Given the description of an element on the screen output the (x, y) to click on. 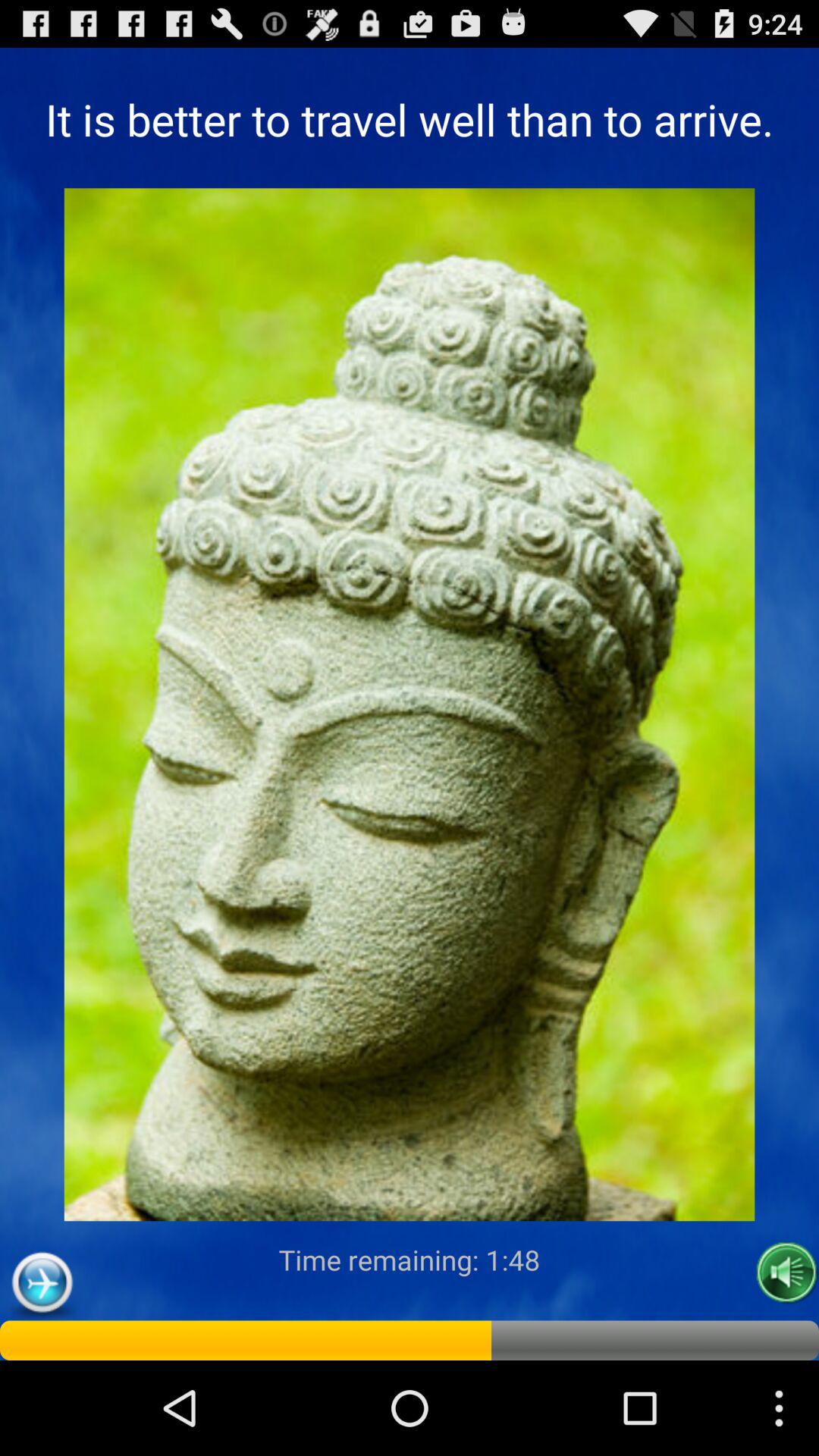
choose icon next to the time remaining 1 (787, 1272)
